Given the description of an element on the screen output the (x, y) to click on. 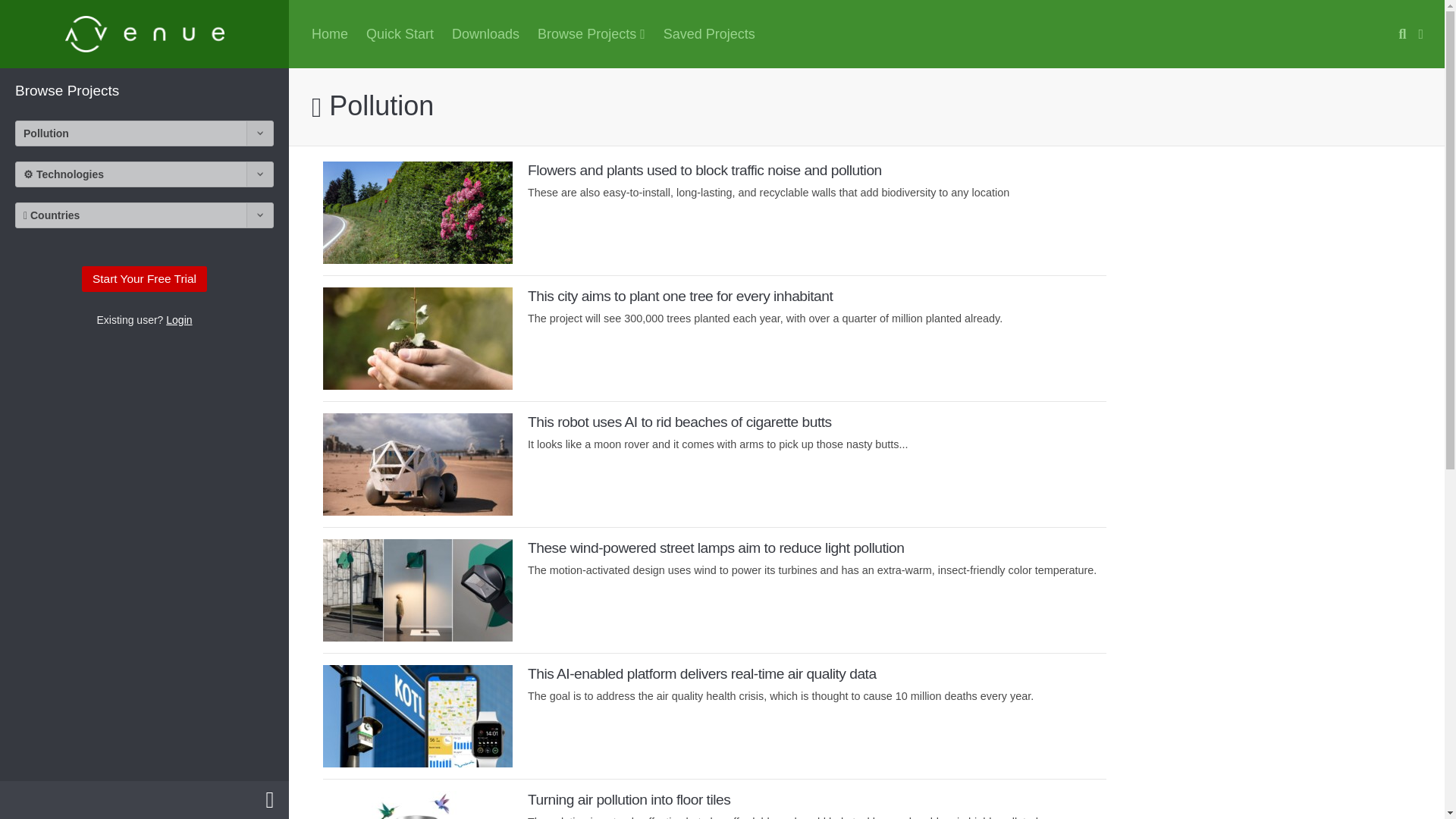
This city aims to plant one tree for every inhabitant (679, 295)
Saved Projects (708, 33)
Flowers and plants used to block traffic noise and pollution (704, 170)
This robot uses AI to rid beaches of cigarette butts (679, 421)
Turning air pollution into floor tiles (628, 799)
Login (178, 319)
This robot uses AI to rid beaches of cigarette butts (679, 421)
Turning air pollution into floor tiles (417, 805)
Start Your Free Trial (143, 278)
Flowers and plants used to block traffic noise and pollution (704, 170)
Flowers and plants used to block traffic noise and pollution (417, 212)
This city aims to plant one tree for every inhabitant (417, 338)
